Given the description of an element on the screen output the (x, y) to click on. 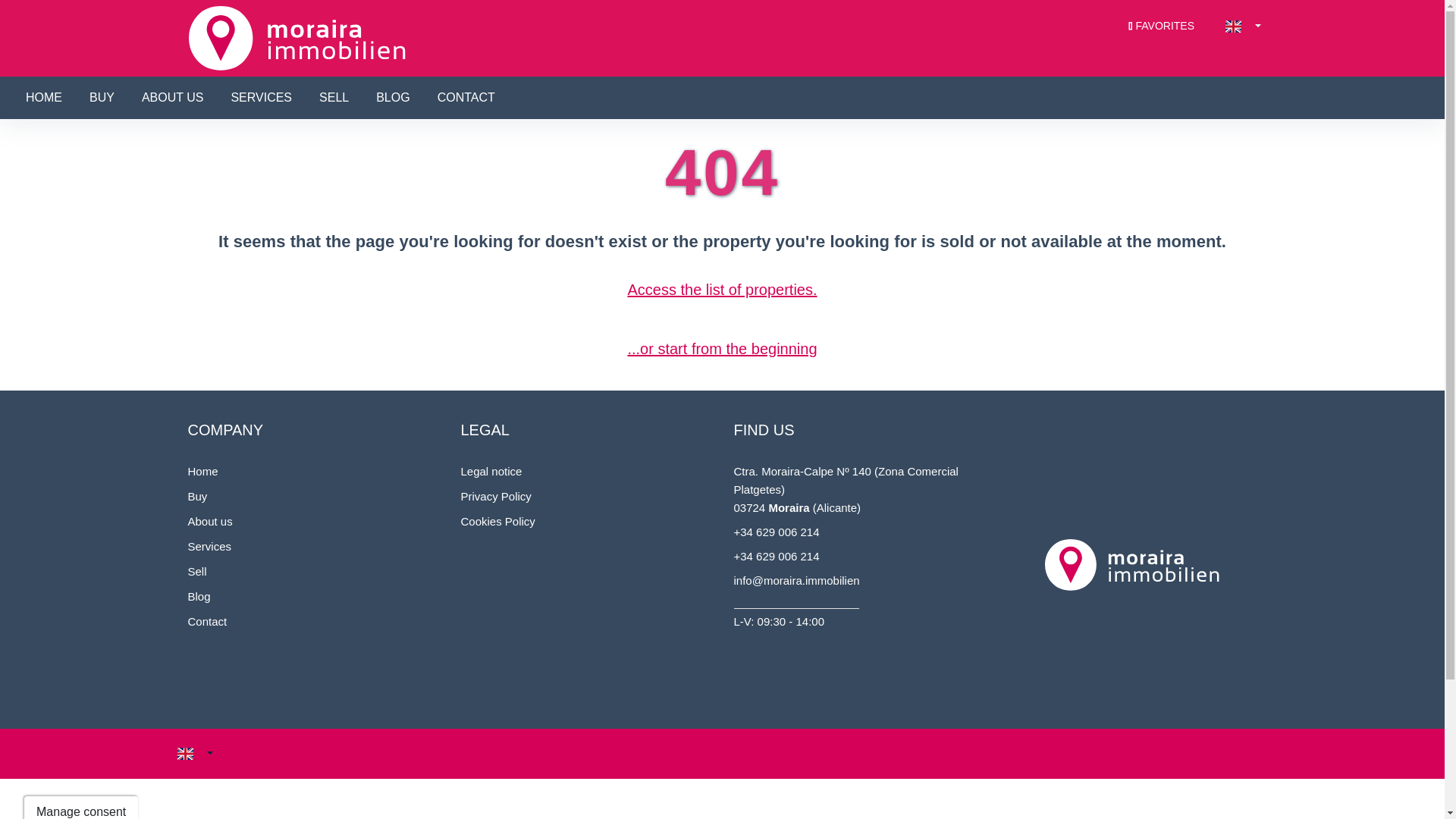
CONTACT (465, 97)
SERVICES (261, 97)
Privacy Policy (496, 495)
HOME (44, 97)
Services (209, 545)
BLOG (391, 97)
SELL (334, 97)
Blog (199, 595)
Access the list of properties. (721, 289)
Home (202, 471)
